Given the description of an element on the screen output the (x, y) to click on. 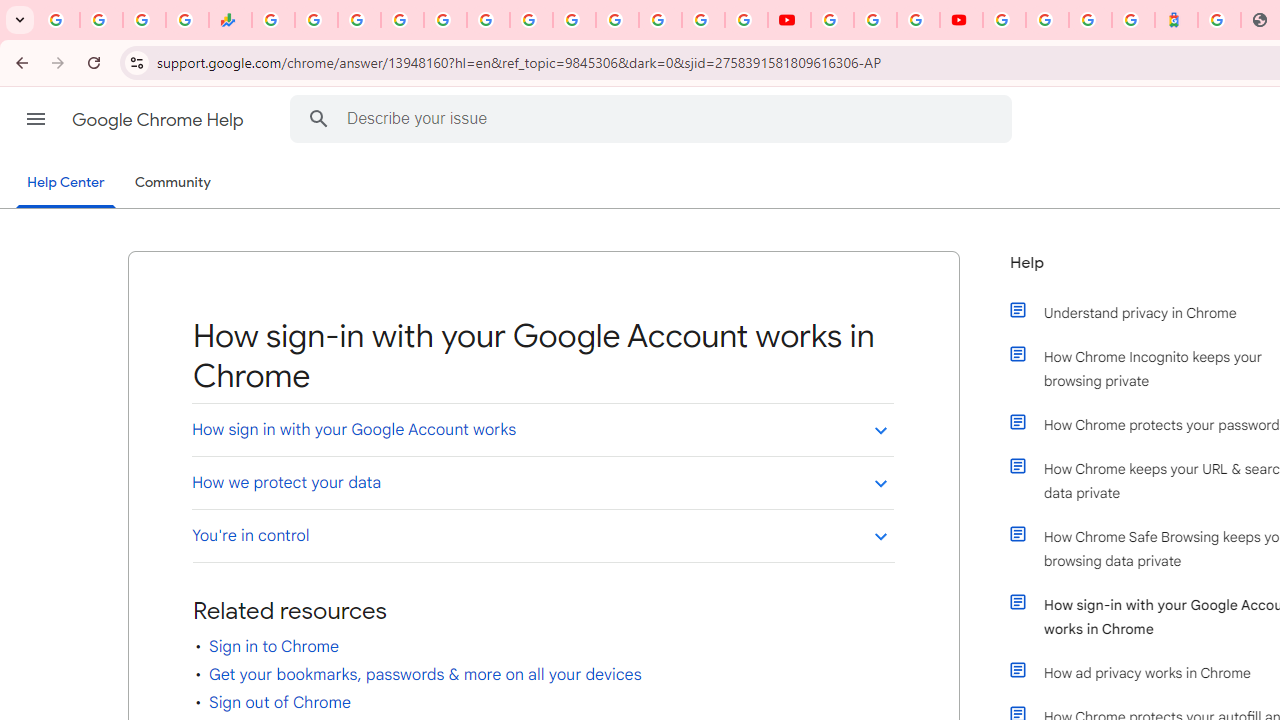
Create your Google Account (918, 20)
Atour Hotel - Google hotels (1176, 20)
You're in control (542, 535)
Describe your issue (653, 118)
Content Creator Programs & Opportunities - YouTube Creators (961, 20)
Sign in - Google Accounts (617, 20)
Sign in - Google Accounts (1004, 20)
Android TV Policies and Guidelines - Transparency Center (530, 20)
